Given the description of an element on the screen output the (x, y) to click on. 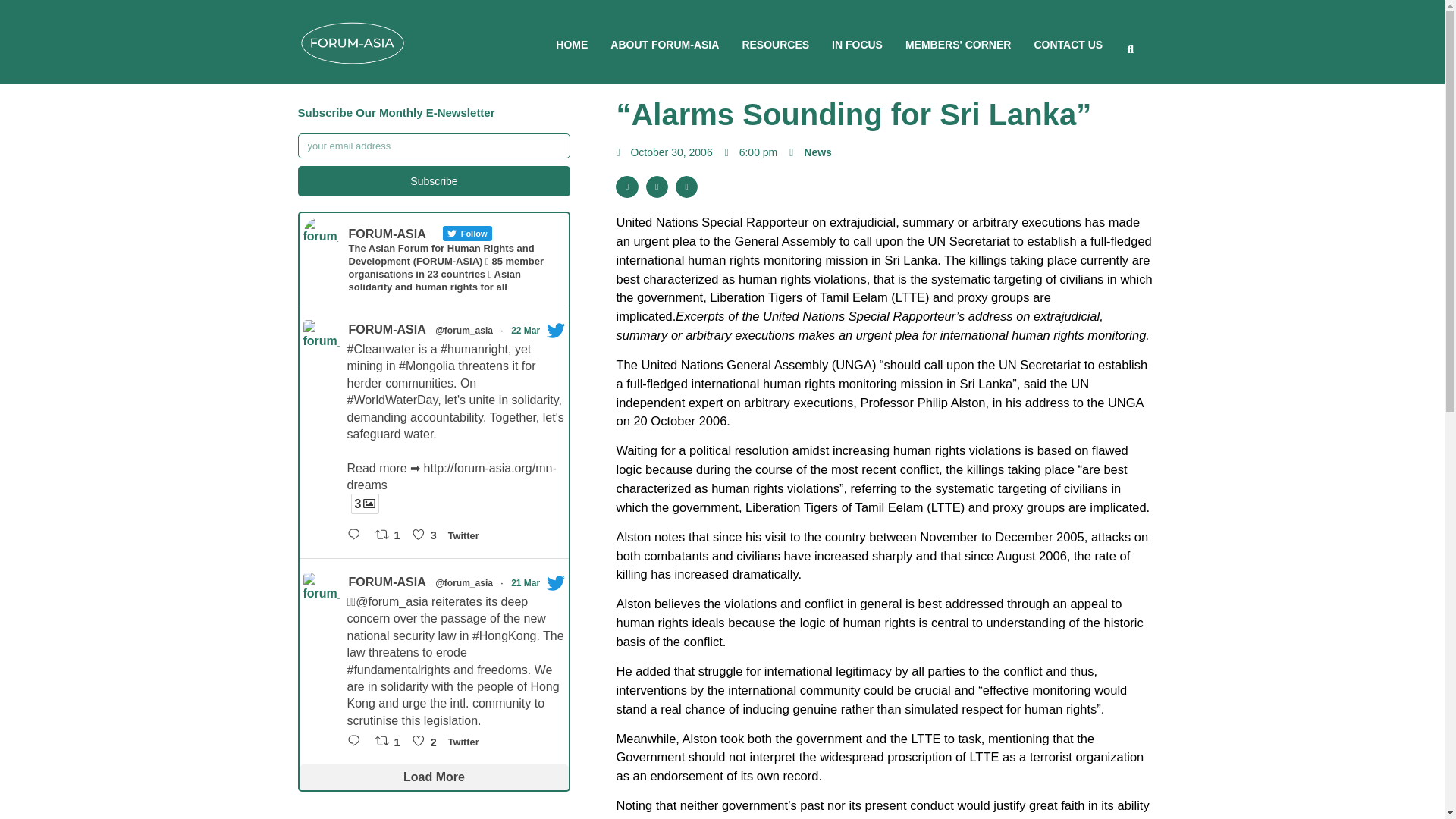
IN FOCUS (856, 44)
MEMBERS' CORNER (957, 44)
CONTACT US (1067, 44)
HOME (571, 44)
RESOURCES (774, 44)
ABOUT FORUM-ASIA (664, 44)
